Given the description of an element on the screen output the (x, y) to click on. 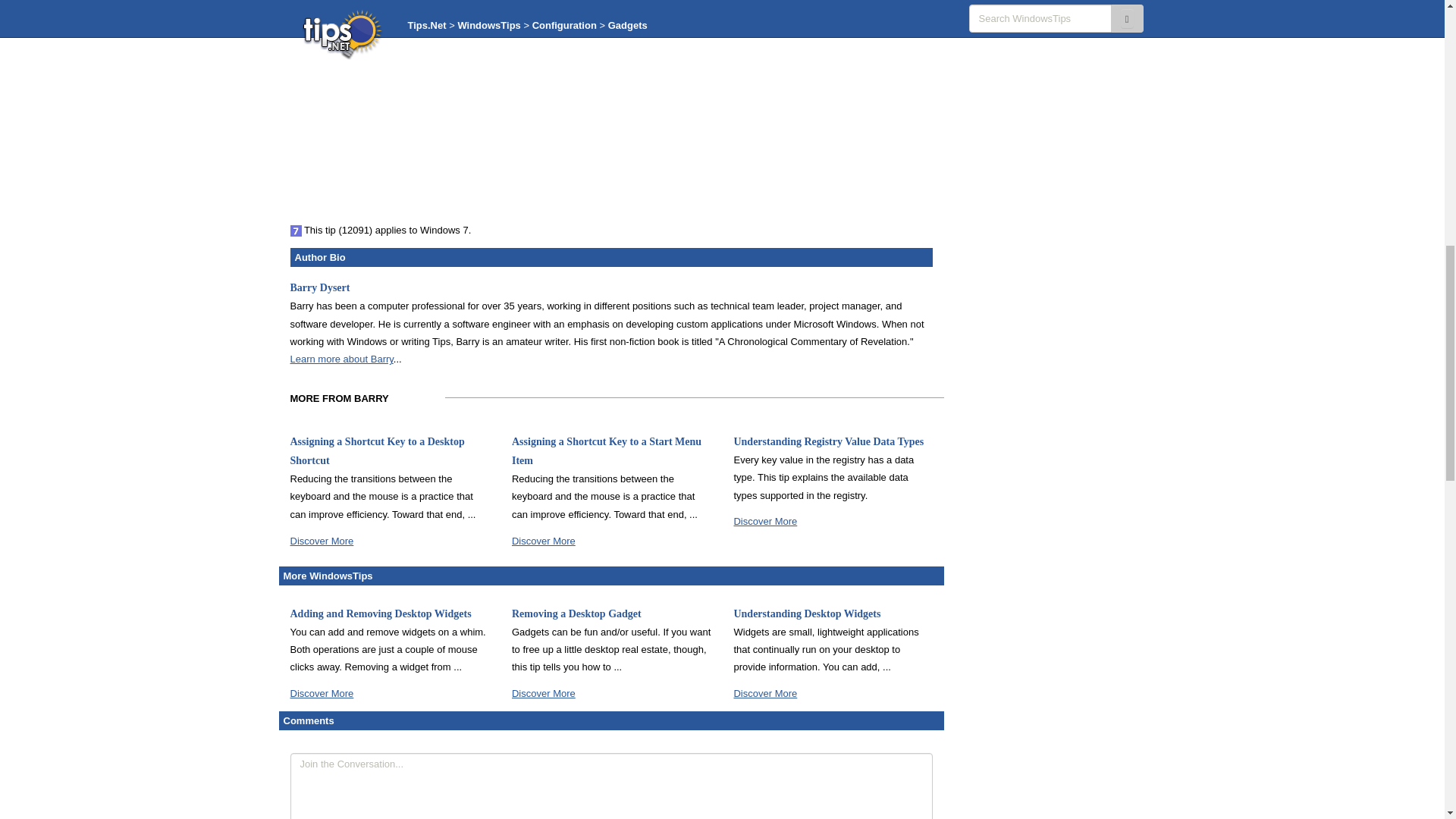
Discover More (543, 693)
Discover More (543, 541)
Learn more about Barry (341, 358)
Discover More (321, 541)
Advertisement (1031, 11)
Discover More (321, 693)
Discover More (764, 693)
Discover More (764, 521)
